Given the description of an element on the screen output the (x, y) to click on. 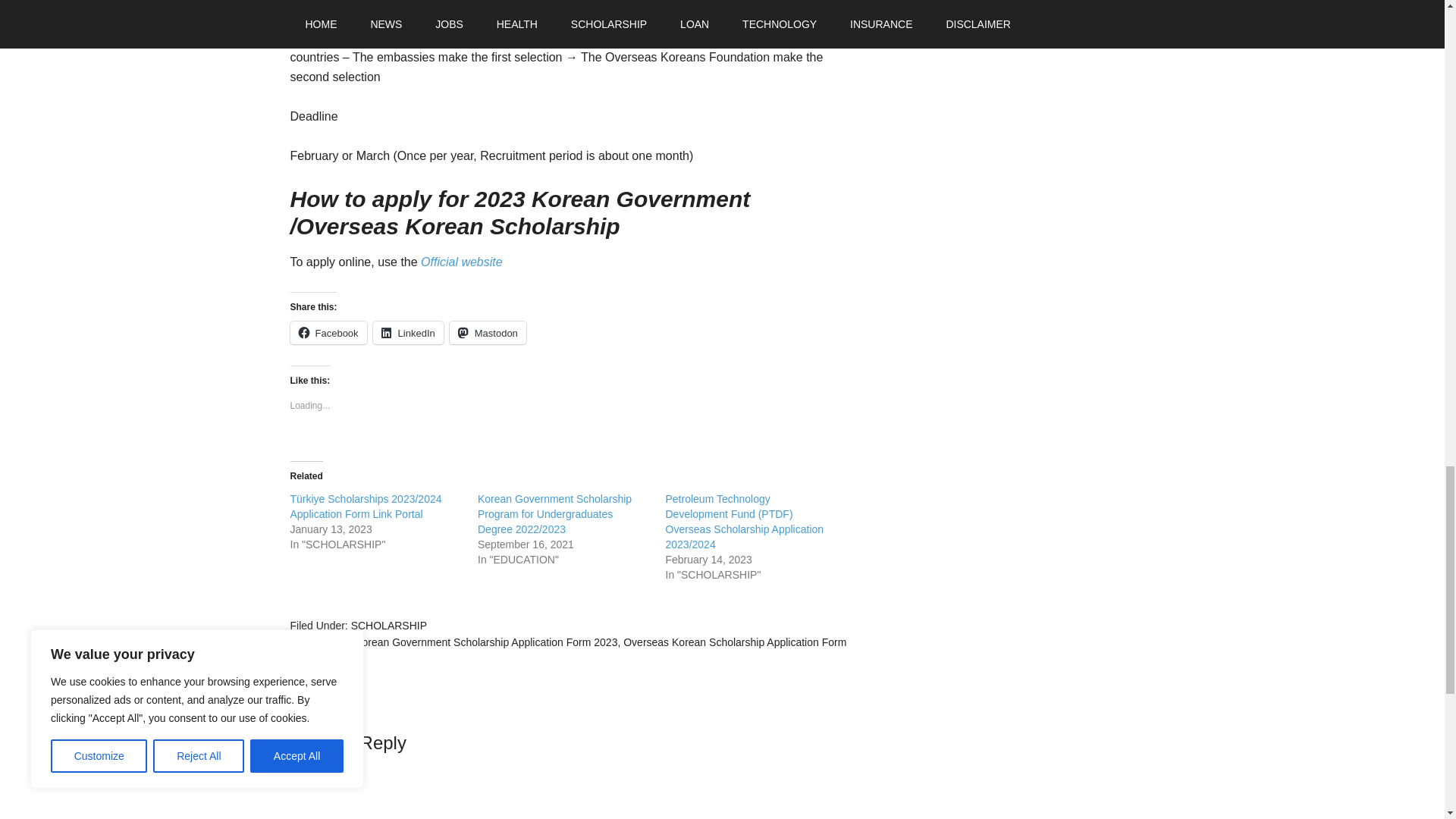
Click to share on Facebook (327, 332)
Click to share on LinkedIn (408, 332)
Click to share on Mastodon (487, 332)
